Given the description of an element on the screen output the (x, y) to click on. 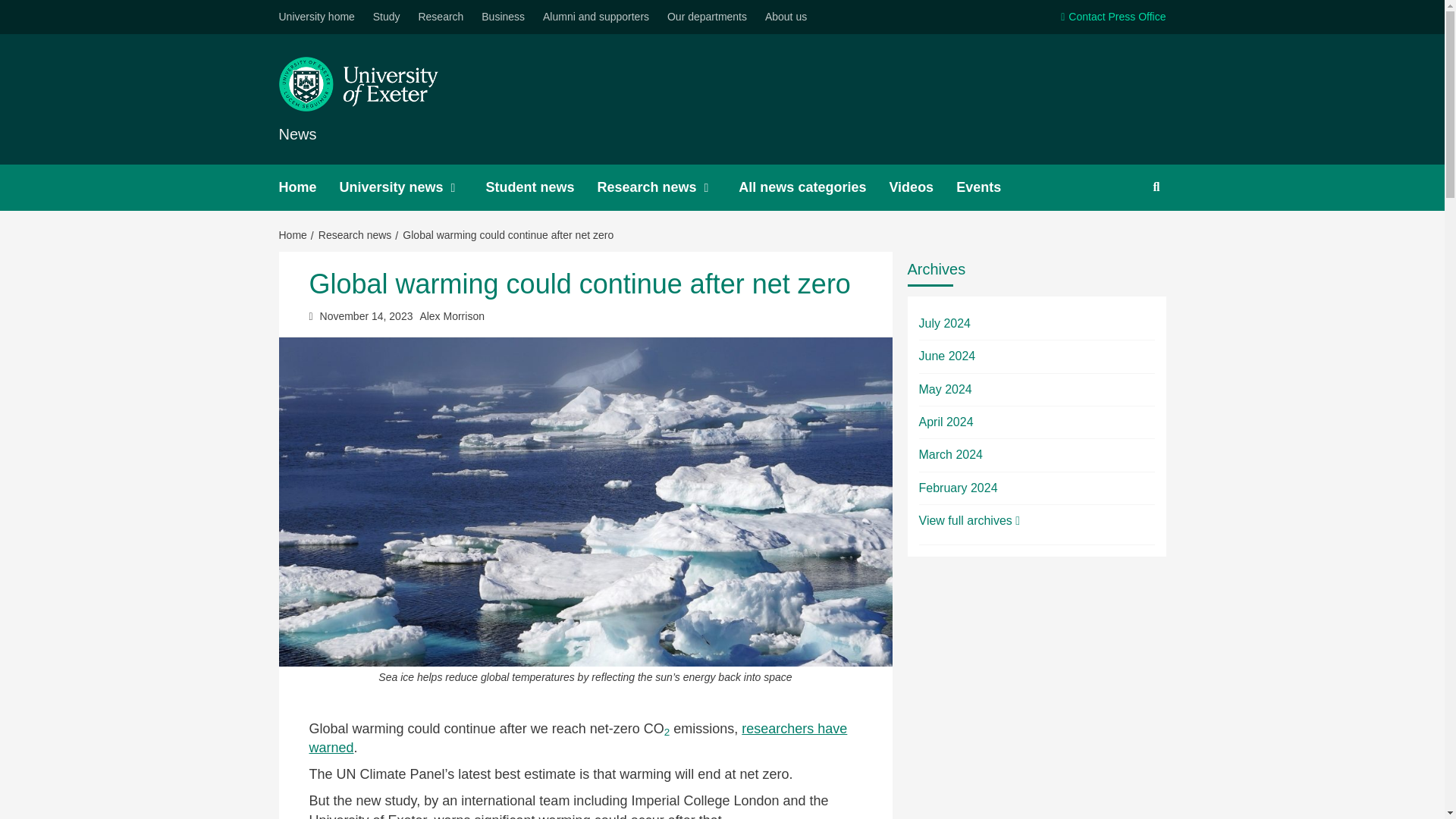
Our departments (706, 17)
Home (295, 234)
Study (386, 17)
University news (412, 187)
All news categories (813, 187)
Alumni and supporters (595, 17)
Research news (667, 187)
About us (785, 17)
Home (309, 187)
Contact Press Office (1105, 16)
Research (440, 17)
Business (503, 17)
Videos (922, 187)
Search (1120, 236)
University home (320, 17)
